Given the description of an element on the screen output the (x, y) to click on. 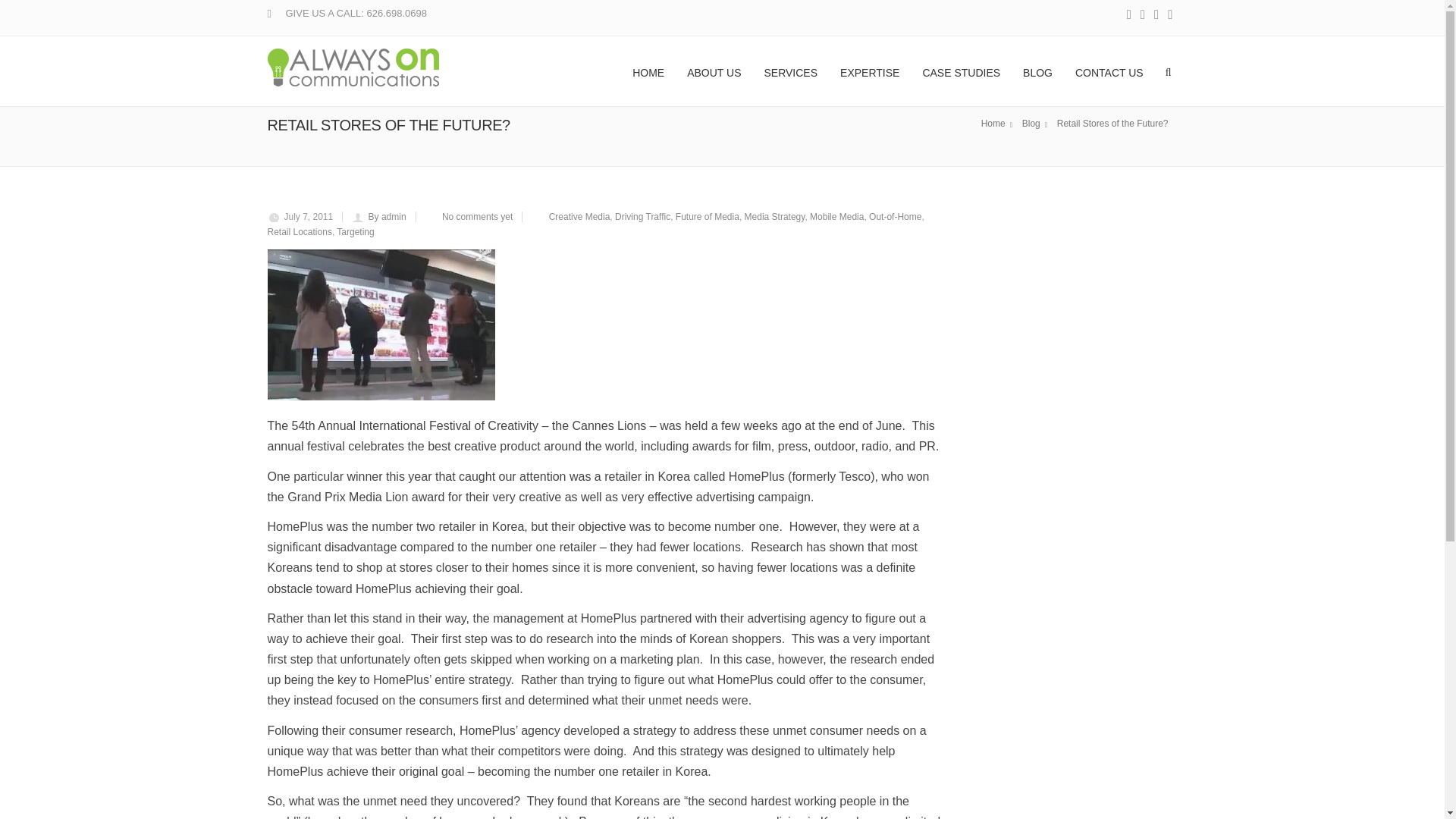
No comments yet (477, 216)
EXPERTISE (869, 71)
Creative Media (579, 216)
Facebook (1128, 15)
Blog (1037, 123)
Retail Stores of the Future? (1115, 123)
Retail Locations (298, 231)
CASE STUDIES (961, 71)
Future of Media (707, 216)
By admin (387, 216)
LinkedIn (1156, 15)
CONTACT US (1109, 71)
ABOUT US (713, 71)
Out-of-Home (895, 216)
Retail Stores of the Future? (1115, 123)
